Given the description of an element on the screen output the (x, y) to click on. 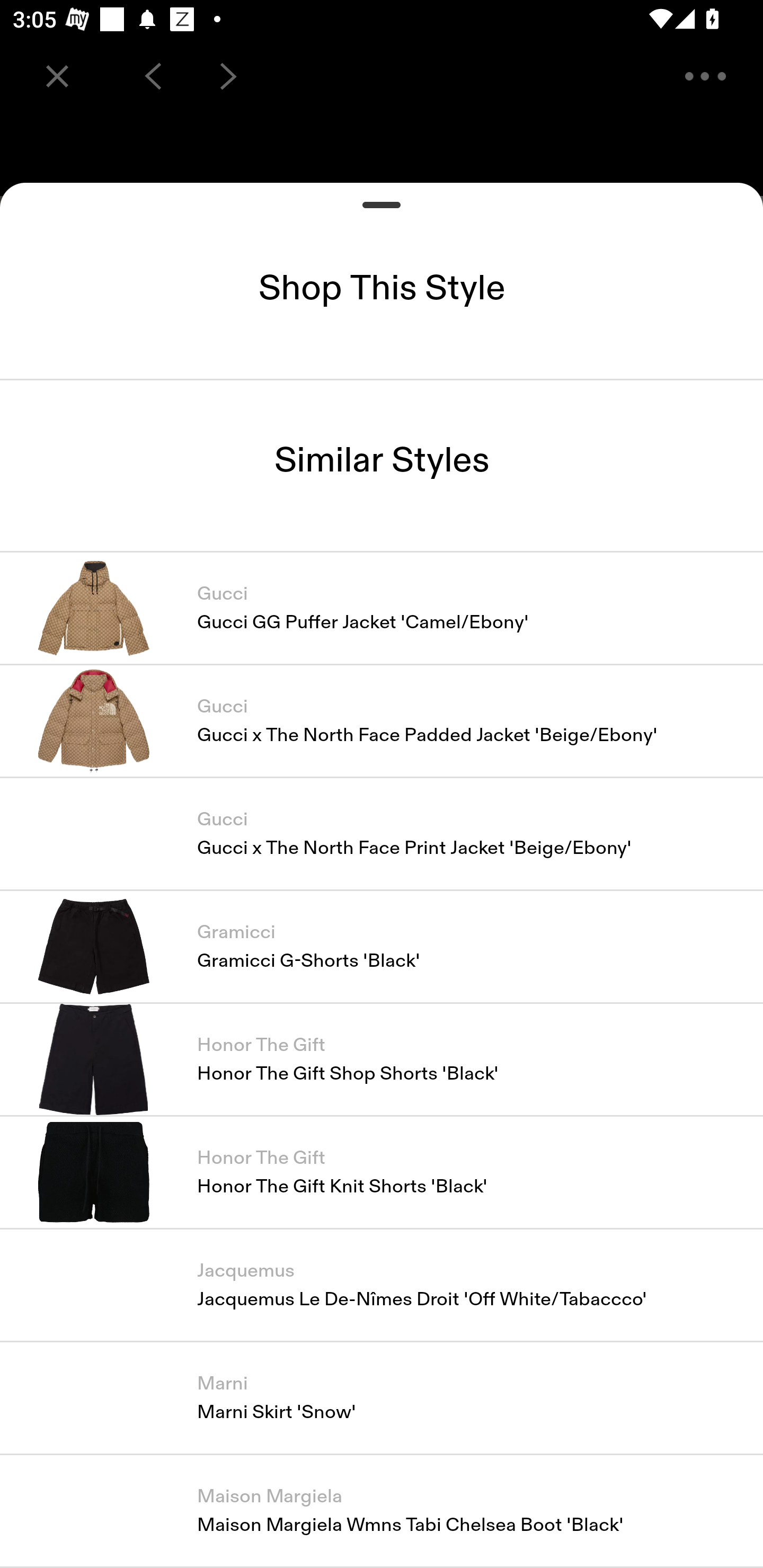
Gucci Gucci GG Puffer Jacket 'Camel/Ebony' (381, 607)
Gramicci Gramicci G-Shorts 'Black' (381, 945)
Honor The Gift Honor The Gift Shop Shorts 'Black' (381, 1058)
Honor The Gift Honor The Gift Knit Shorts 'Black' (381, 1171)
Marni Marni Skirt 'Snow' (381, 1397)
